Given the description of an element on the screen output the (x, y) to click on. 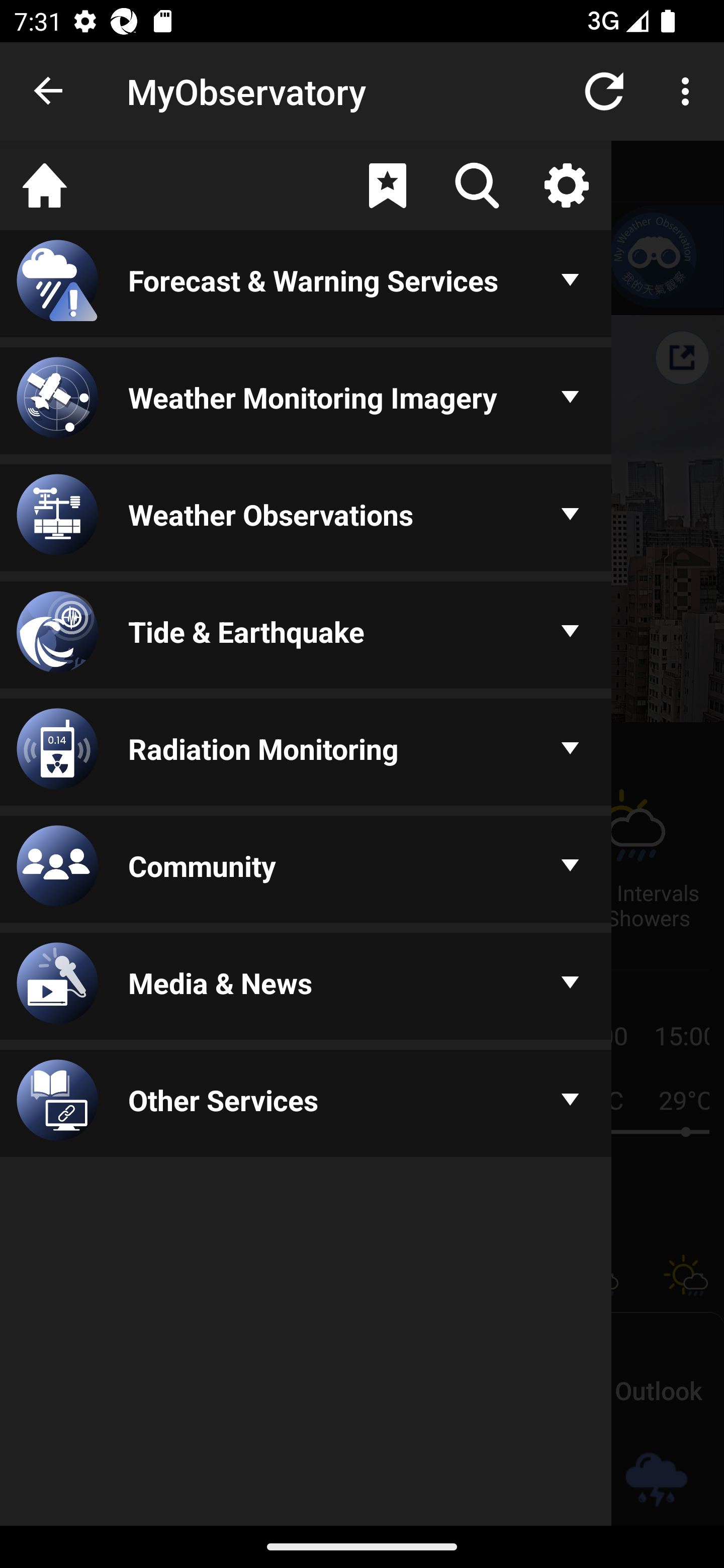
Navigate up (49, 91)
Refresh (604, 90)
More options (688, 90)
Homepage (44, 185)
Bookmark Manager (387, 185)
Search Unselected (477, 185)
Settings (566, 185)
Forecast & Warning Services Collapsed (305, 285)
Weather Monitoring Imagery Collapsed (305, 401)
Weather Observations Collapsed (305, 518)
Tide & Earthquake Collapsed (305, 636)
Radiation Monitoring Collapsed (305, 753)
Community Collapsed (305, 870)
Media & News Collapsed (305, 987)
Other Services Collapsed (305, 1104)
